Given the description of an element on the screen output the (x, y) to click on. 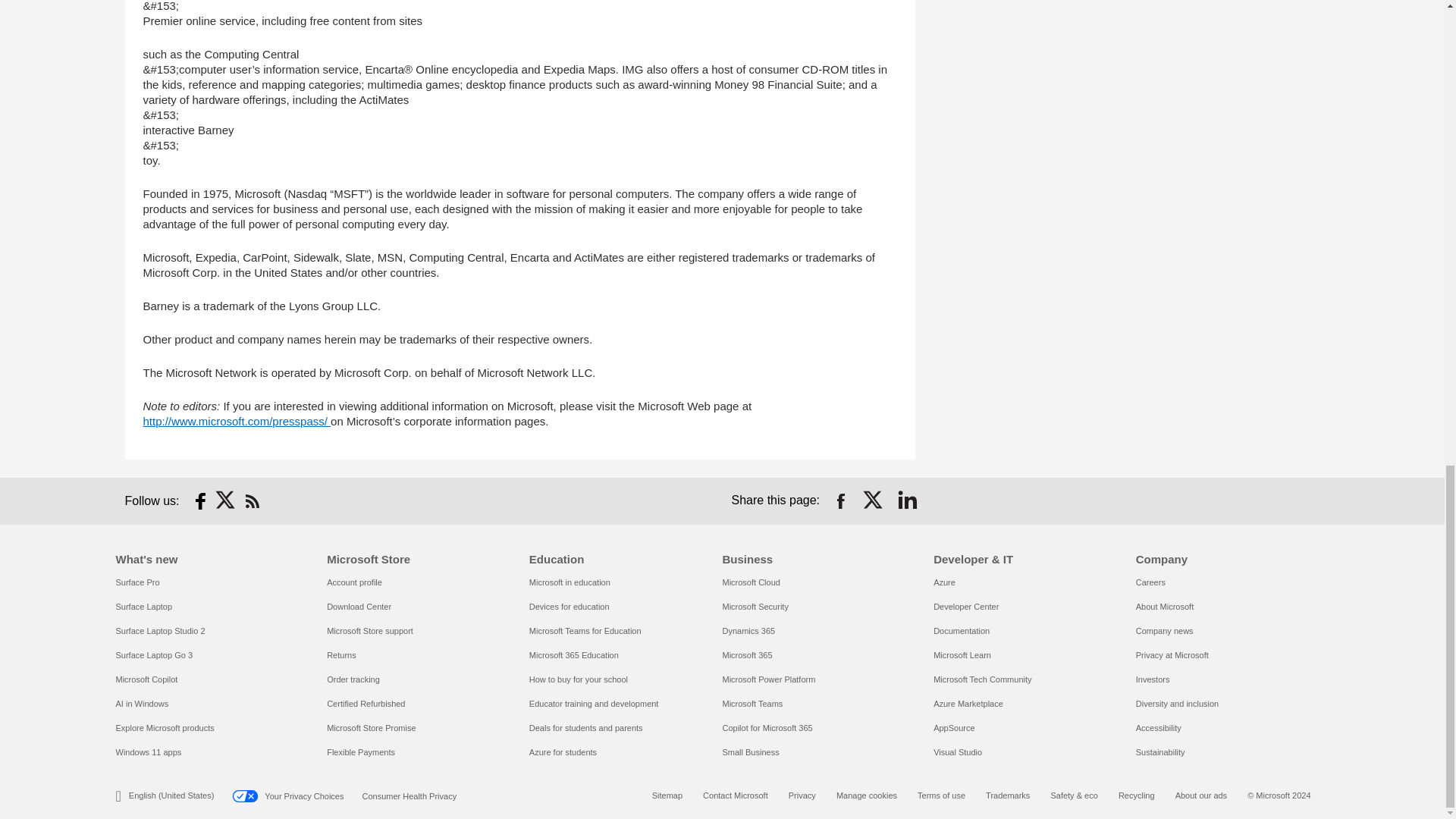
Share on Facebook (840, 500)
RSS Subscription (252, 500)
Share on LinkedIn (907, 500)
Share on Twitter (873, 500)
Follow on Facebook (200, 500)
Follow on Twitter (226, 500)
